Given the description of an element on the screen output the (x, y) to click on. 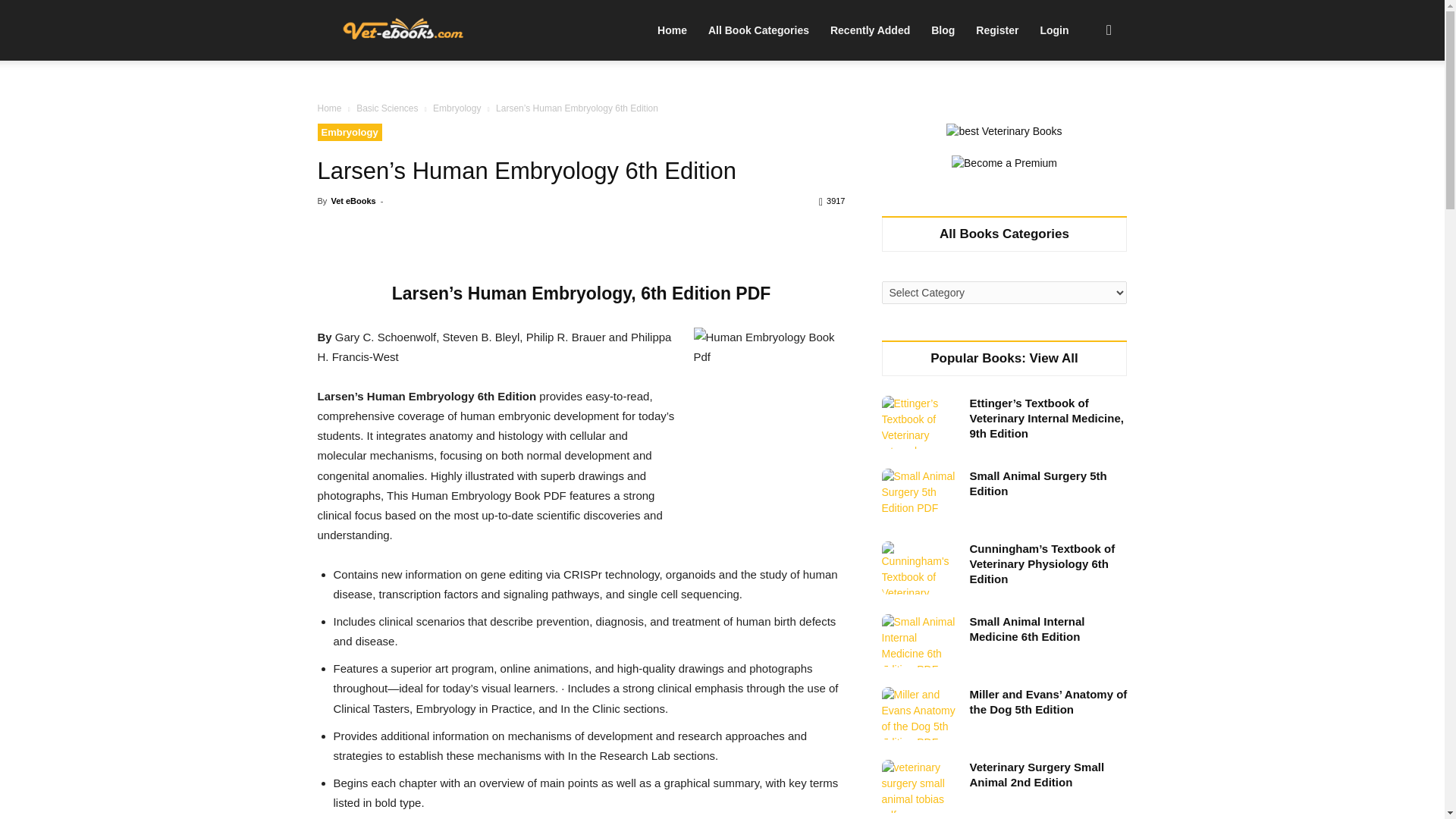
View all posts in Embryology (456, 108)
Veterinary Books (401, 30)
View all posts in Basic Sciences (386, 108)
